Given the description of an element on the screen output the (x, y) to click on. 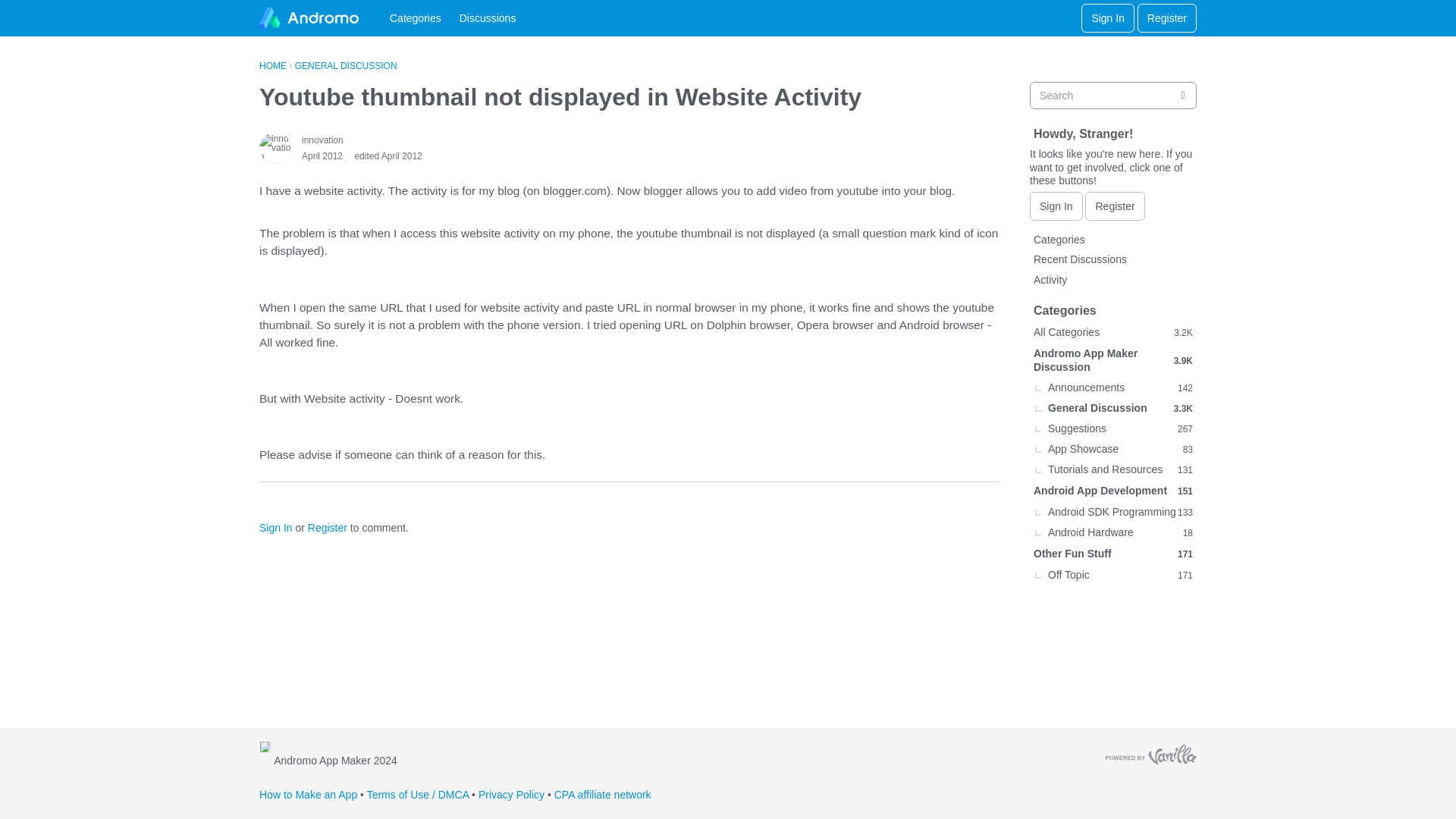
131 discussions (1112, 428)
133 discussions (1184, 469)
267 discussions (1184, 512)
Edited April 27, 2012 10:10PM by innovation. (1184, 428)
3,317 discussions (1112, 512)
Sign In (1112, 532)
Recent Discussions (387, 155)
